Given the description of an element on the screen output the (x, y) to click on. 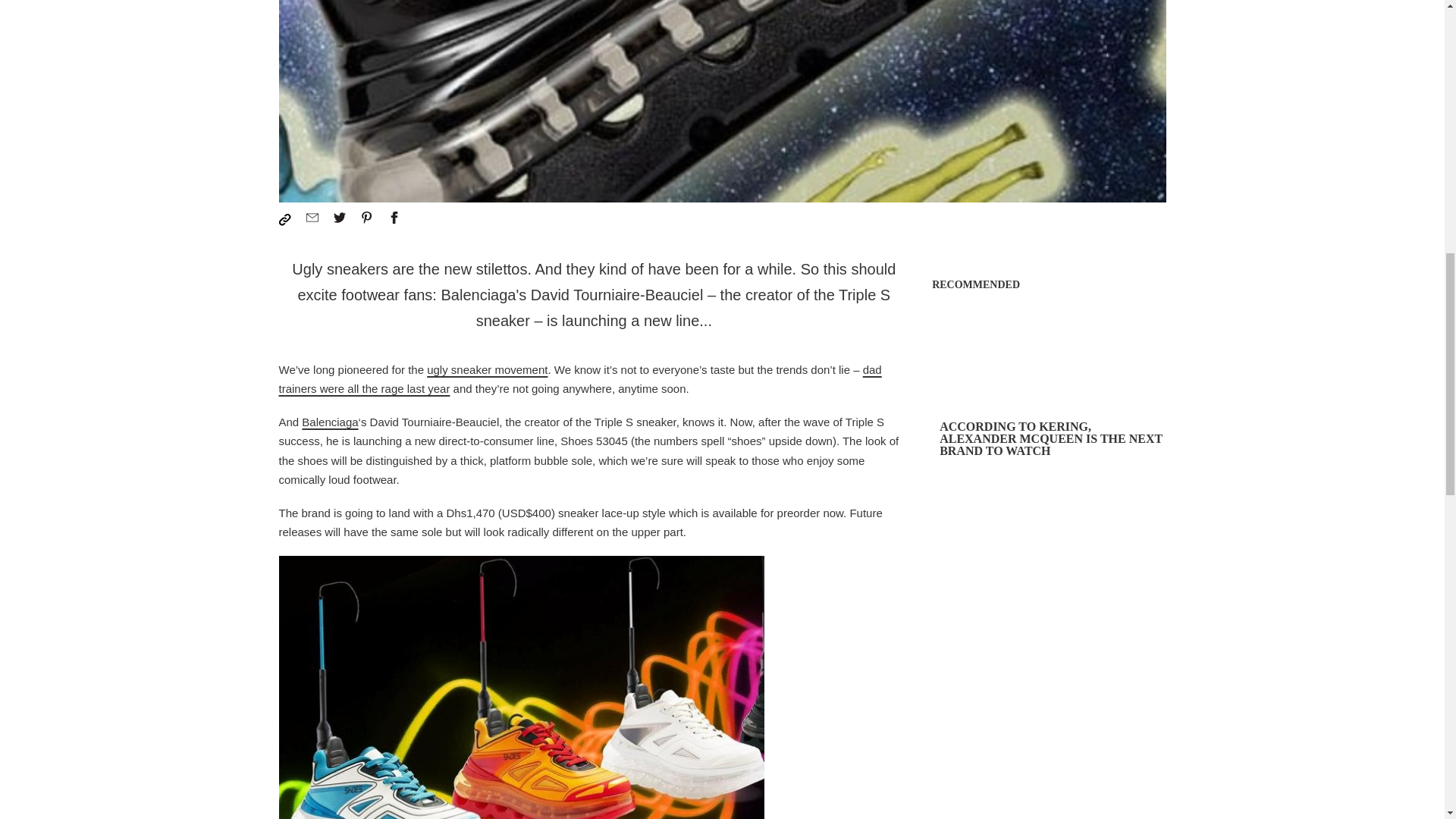
Balenciaga (329, 421)
dad trainers were all the rage last year (580, 379)
ugly sneaker movement (486, 369)
